Given the description of an element on the screen output the (x, y) to click on. 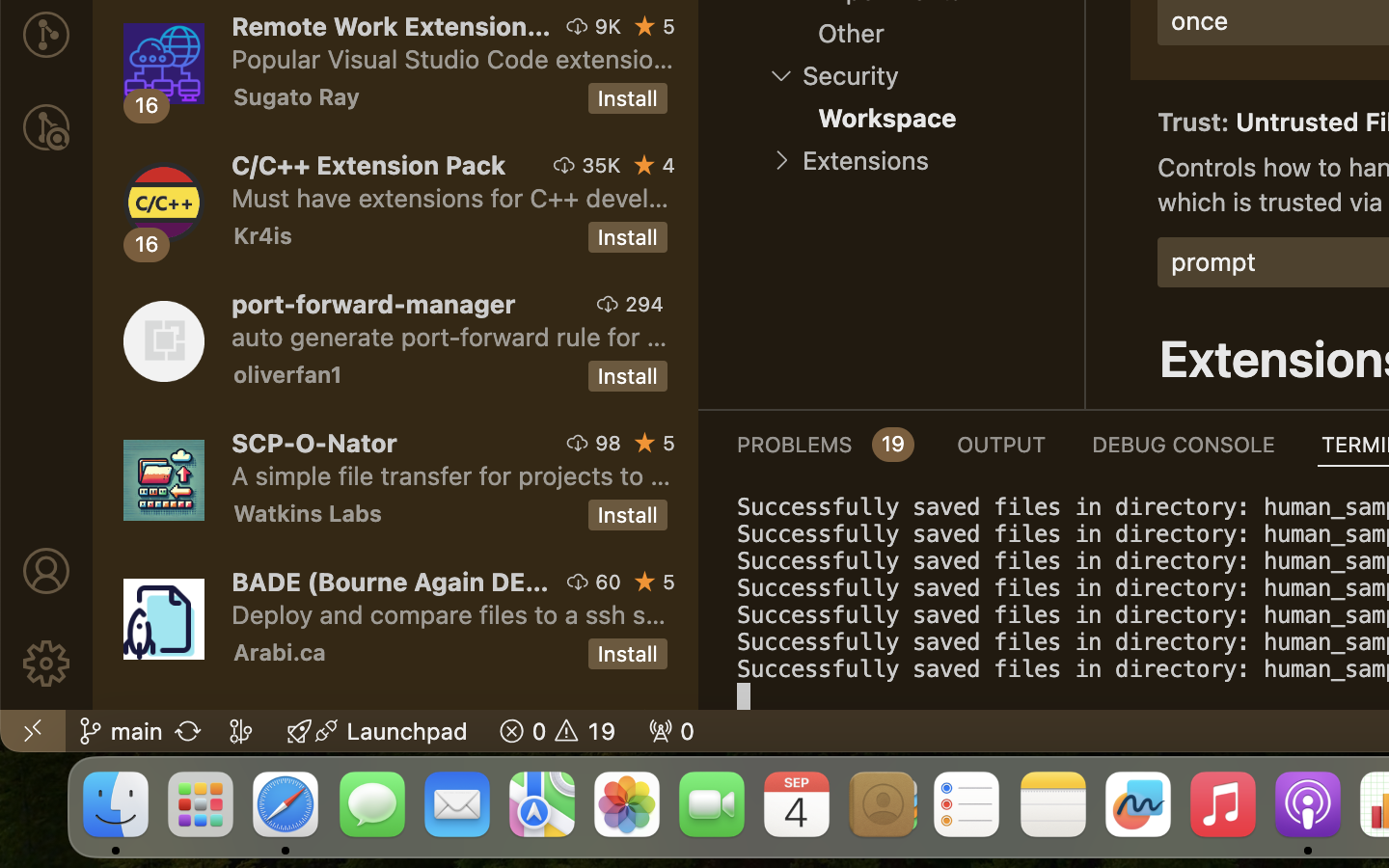
Popular Visual Studio Code extensions for Remote Work Element type: AXStaticText (453, 58)
Sugato Ray Element type: AXStaticText (296, 95)
0 PROBLEMS 19 Element type: AXRadioButton (824, 443)
Trust: Element type: AXStaticText (1196, 122)
 Element type: AXStaticText (46, 570)
